Given the description of an element on the screen output the (x, y) to click on. 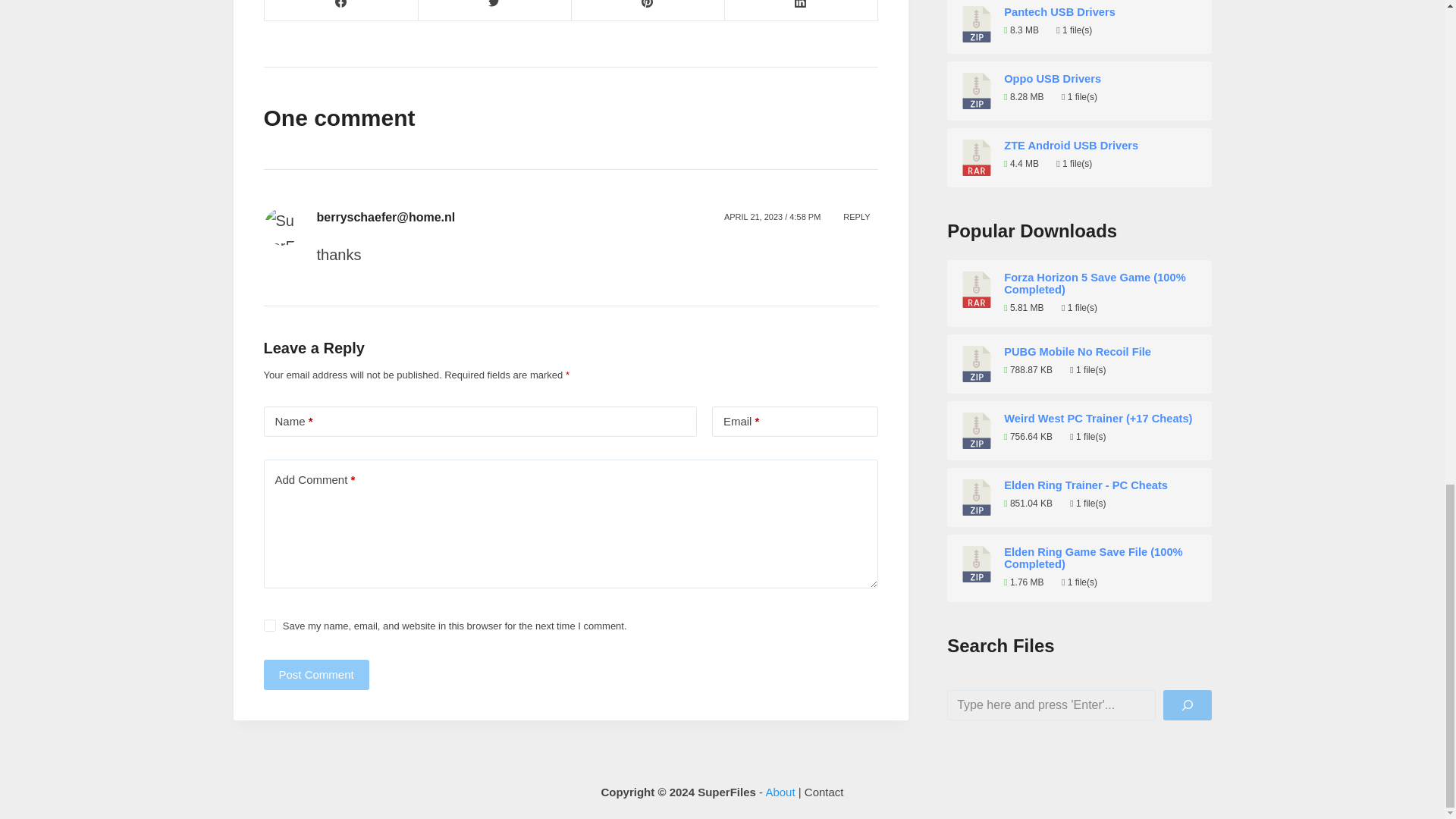
yes (269, 625)
REPLY (856, 217)
Post Comment (316, 675)
